Given the description of an element on the screen output the (x, y) to click on. 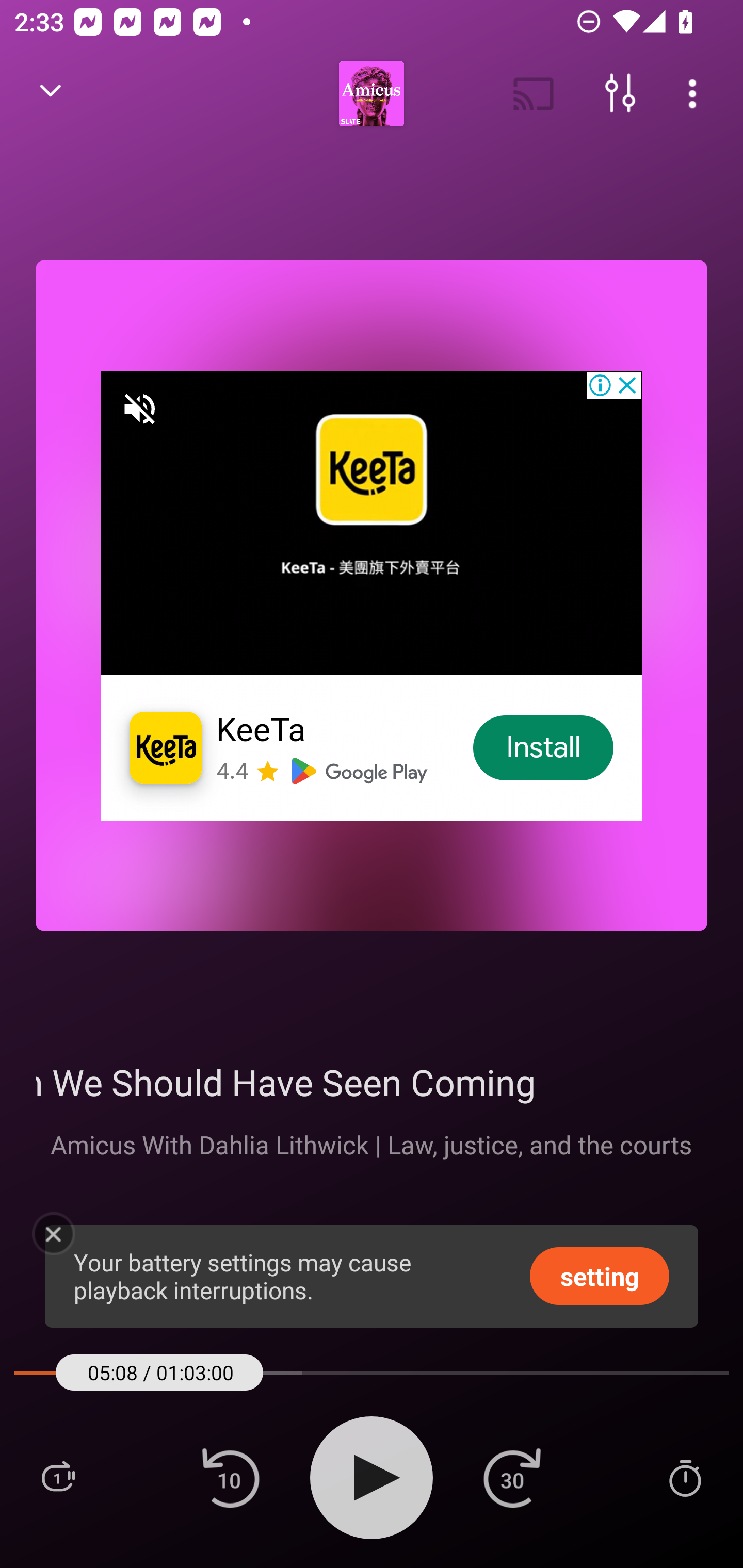
Cast. Disconnected (533, 93)
 Back (50, 94)
KeeTa 4.4 Install Install (371, 595)
Install (543, 747)
The IVF Decision We Should Have Seen Coming (371, 1081)
setting (599, 1275)
 Playlist (57, 1477)
Sleep Timer  (684, 1477)
